Given the description of an element on the screen output the (x, y) to click on. 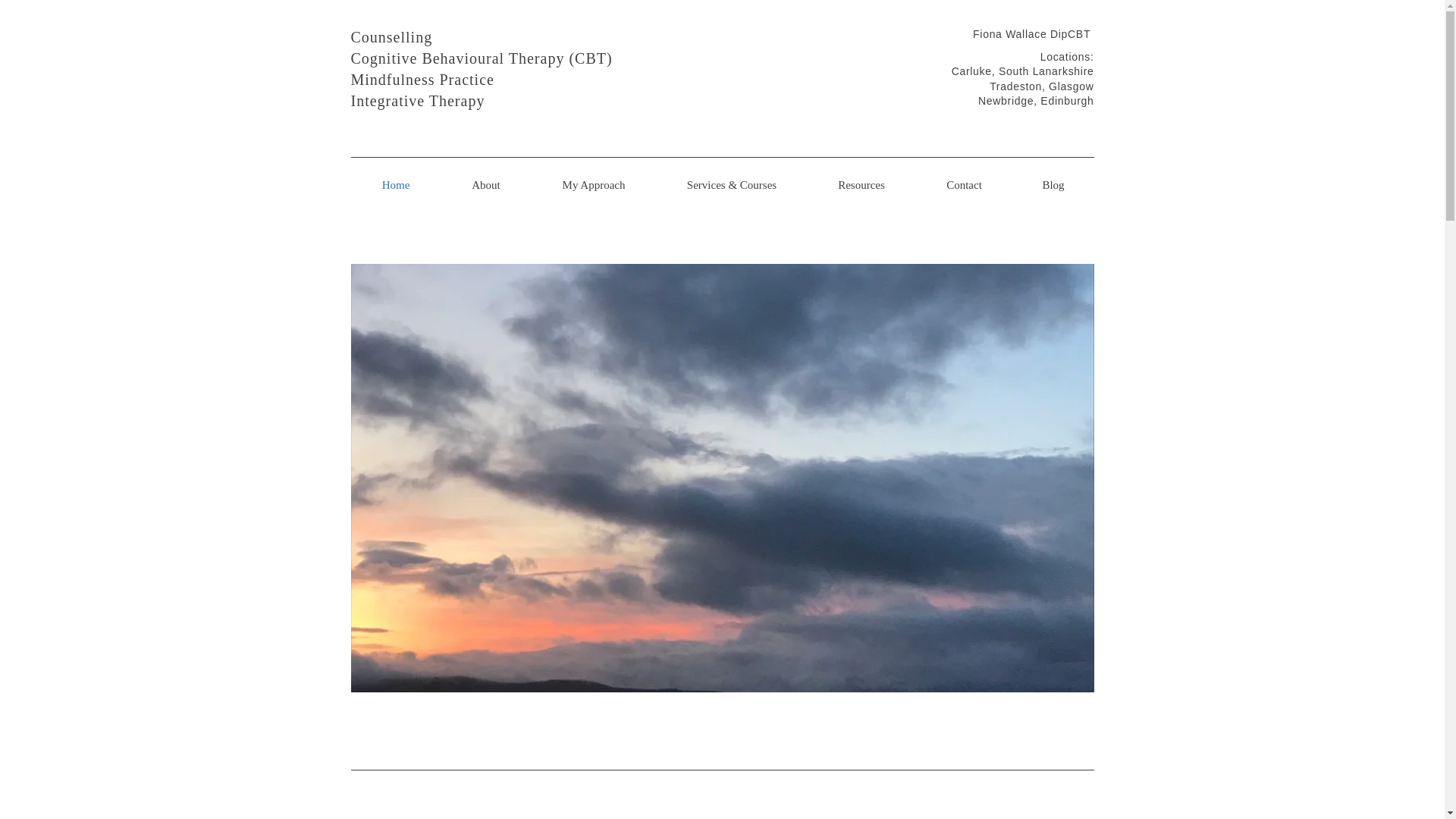
My Approach (593, 184)
Blog (1053, 184)
Locations: (1067, 56)
About (486, 184)
Carluke, South Lanarkshire (1023, 70)
Counselling (391, 36)
Home (395, 184)
Resources (860, 184)
Contact (964, 184)
Fiona Wallace DipCBT  (1032, 33)
